Given the description of an element on the screen output the (x, y) to click on. 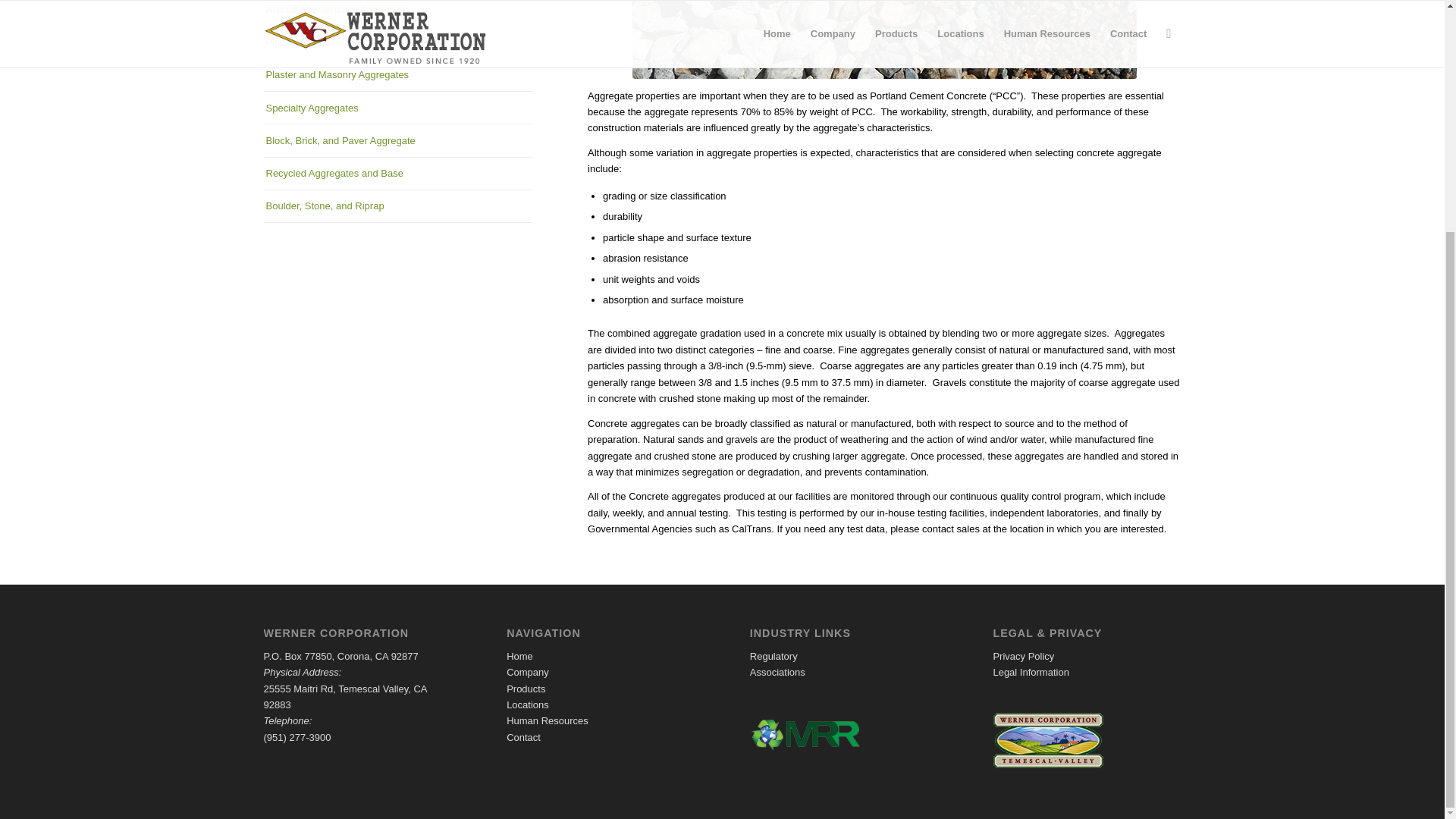
Human Resources (547, 720)
Asphalt Maintenance Aggregates (397, 12)
Company (527, 672)
Locations (527, 704)
Industry Links (773, 655)
Specialty Aggregates (397, 107)
Home (519, 655)
Industry Links (777, 672)
Locations (527, 704)
Products (525, 688)
Regulatory (773, 655)
Products (525, 688)
Block, Brick, and Paver Aggregate (397, 140)
Associations (777, 672)
Privacy (1023, 655)
